Given the description of an element on the screen output the (x, y) to click on. 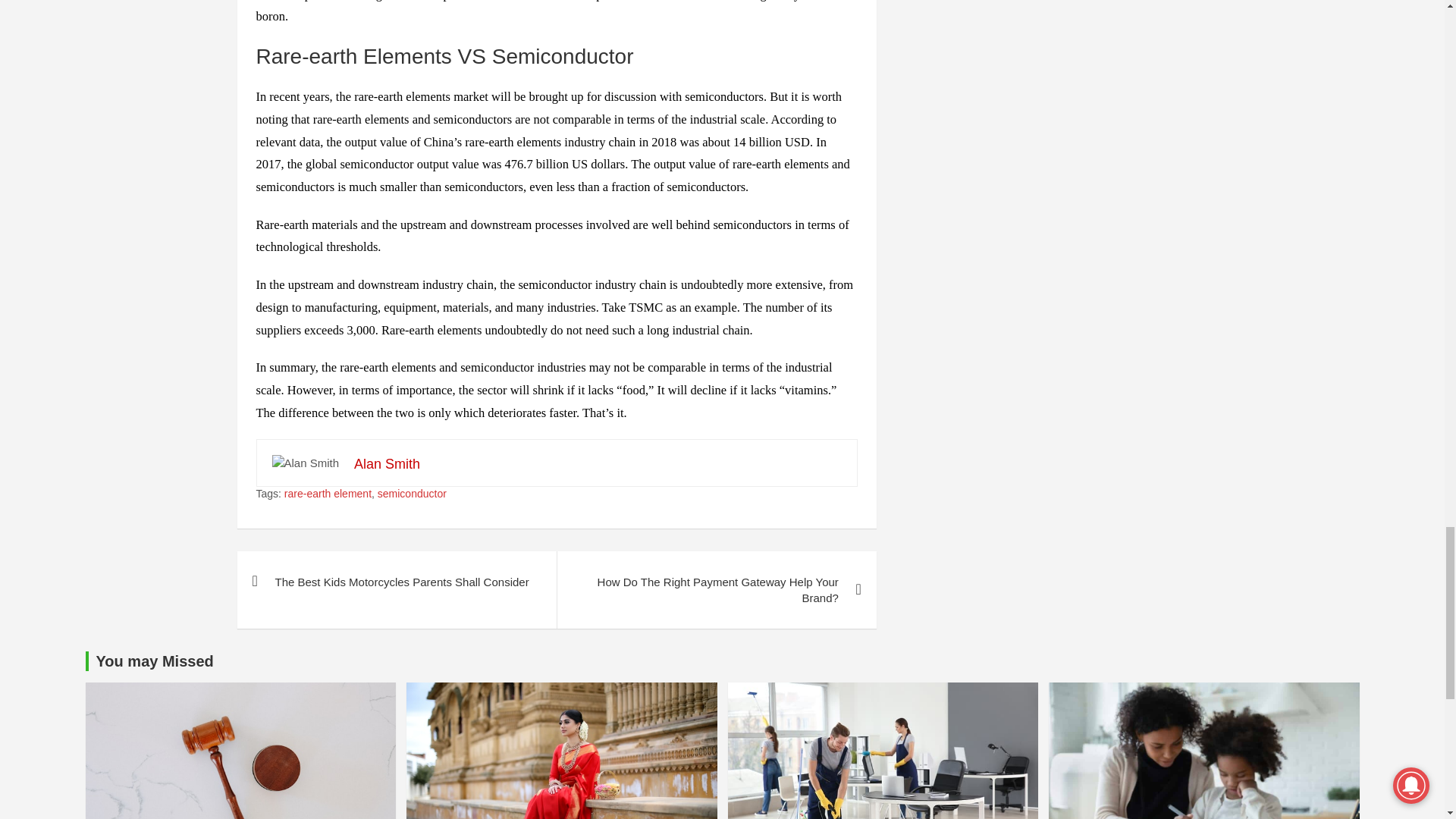
How Do The Right Payment Gateway Help Your Brand? (716, 589)
The Best Kids Motorcycles Parents Shall Consider (395, 581)
rare-earth element (327, 494)
semiconductor (411, 494)
Alan Smith (386, 463)
